Given the description of an element on the screen output the (x, y) to click on. 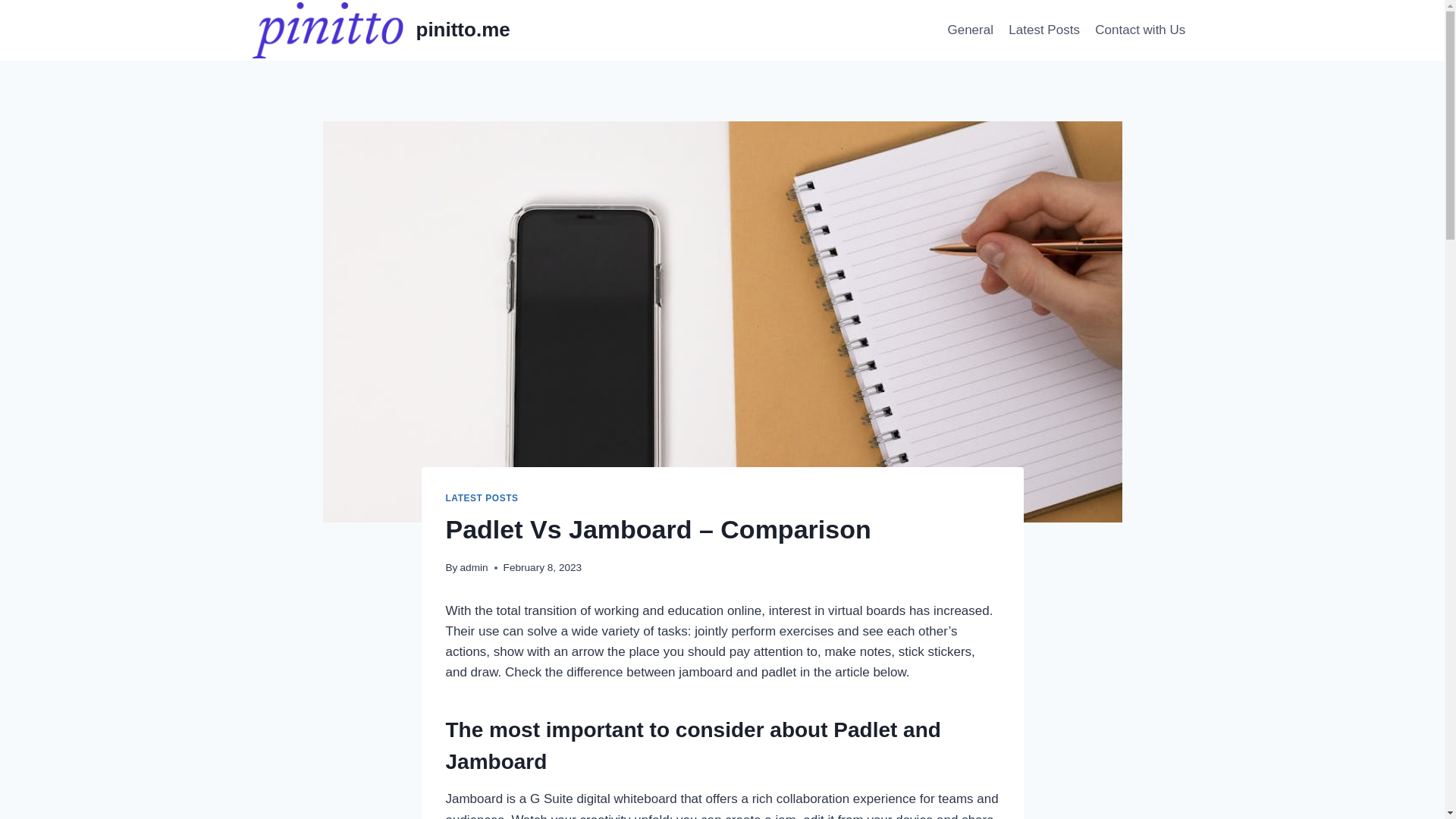
pinitto.me (381, 29)
LATEST POSTS (481, 498)
Latest Posts (1044, 30)
admin (473, 567)
Contact with Us (1139, 30)
General (970, 30)
